Given the description of an element on the screen output the (x, y) to click on. 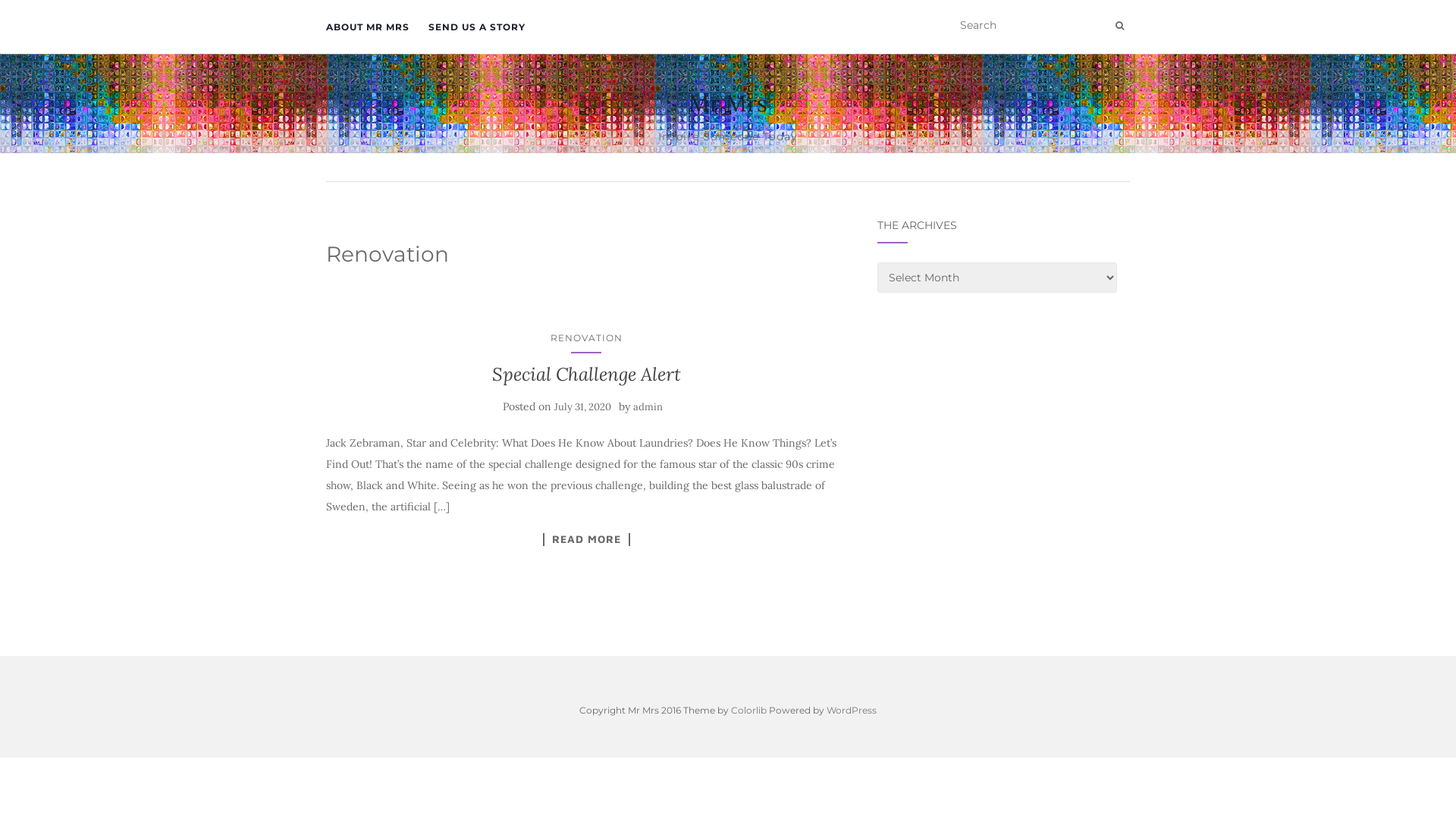
SEND US A STORY Element type: text (476, 26)
Special Challenge Alert Element type: text (586, 373)
July 31, 2020 Element type: text (582, 406)
Search Element type: text (1119, 25)
Mr Mrs Element type: text (727, 102)
Colorlib Element type: text (748, 709)
READ MORE Element type: text (586, 539)
admin Element type: text (647, 406)
ABOUT MR MRS Element type: text (367, 26)
RENOVATION Element type: text (586, 337)
WordPress Element type: text (851, 709)
